Given the description of an element on the screen output the (x, y) to click on. 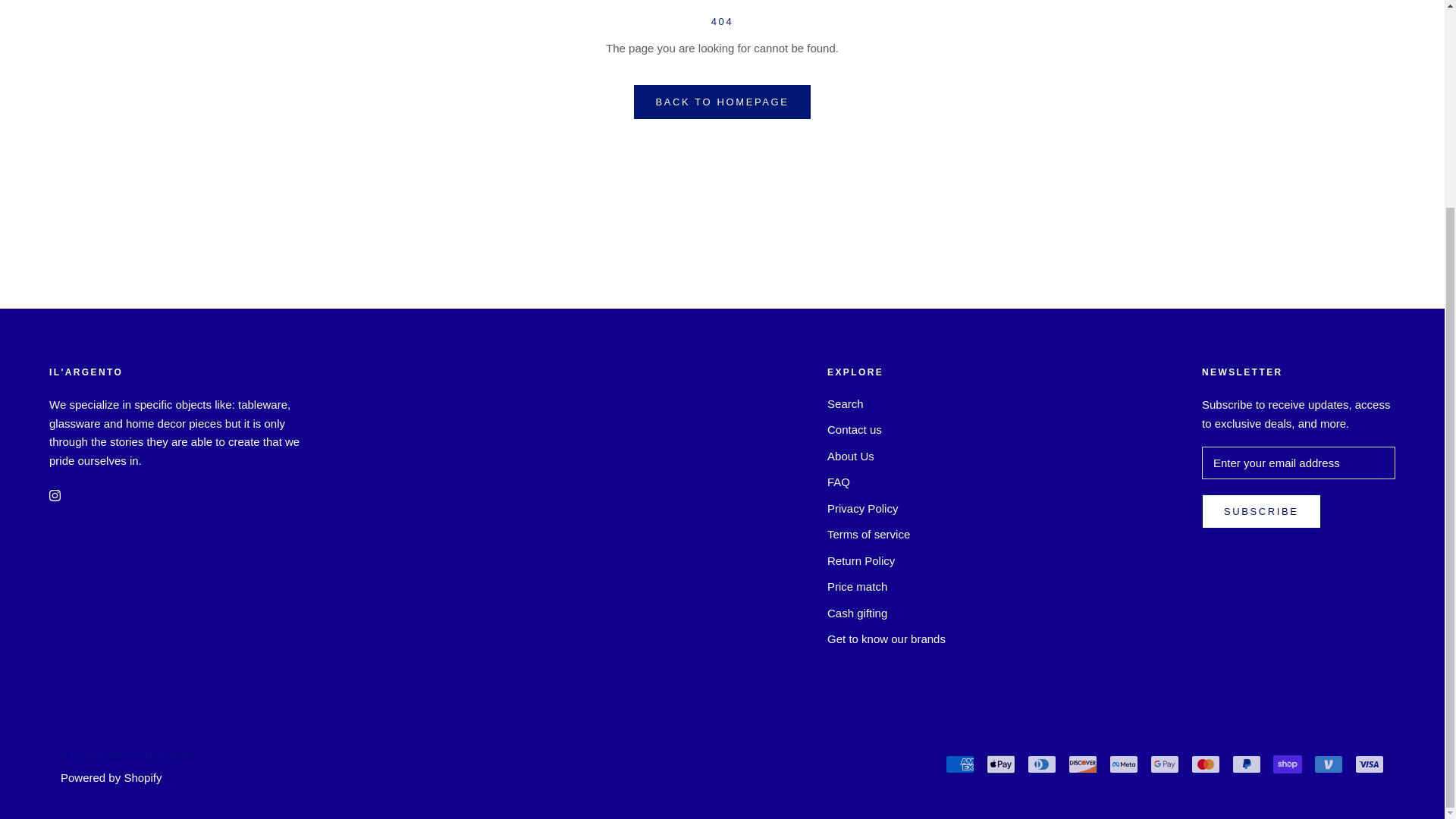
Diners Club (1042, 764)
Google Pay (1164, 764)
Venmo (1328, 764)
Discover (1082, 764)
PayPal (1245, 764)
Meta Pay (1123, 764)
Mastercard (1205, 764)
Apple Pay (1000, 764)
Shop Pay (1286, 764)
American Express (959, 764)
